Given the description of an element on the screen output the (x, y) to click on. 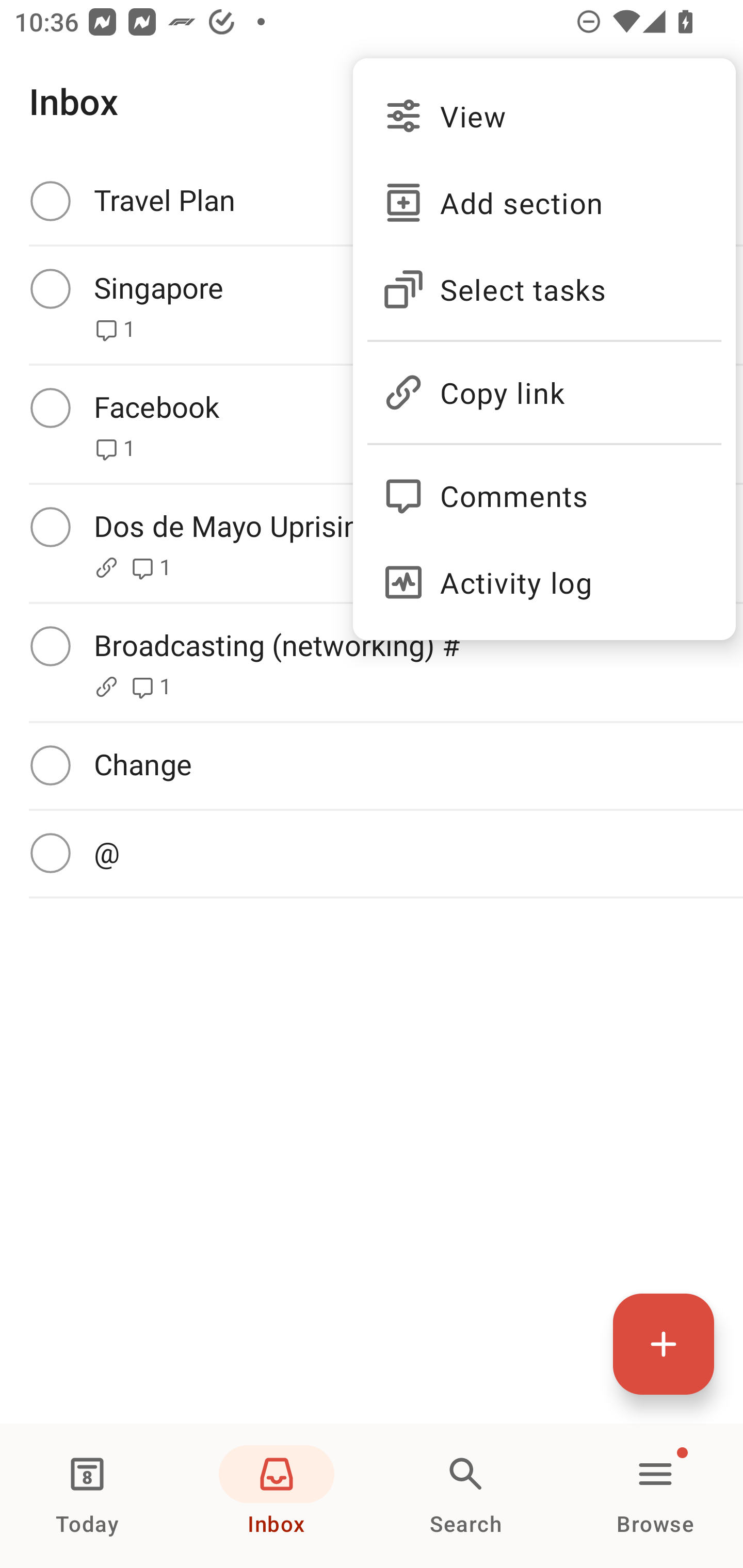
View (544, 115)
Add section (544, 202)
Select tasks (544, 289)
Copy link (544, 383)
Comments (544, 487)
Activity log (544, 582)
